Given the description of an element on the screen output the (x, y) to click on. 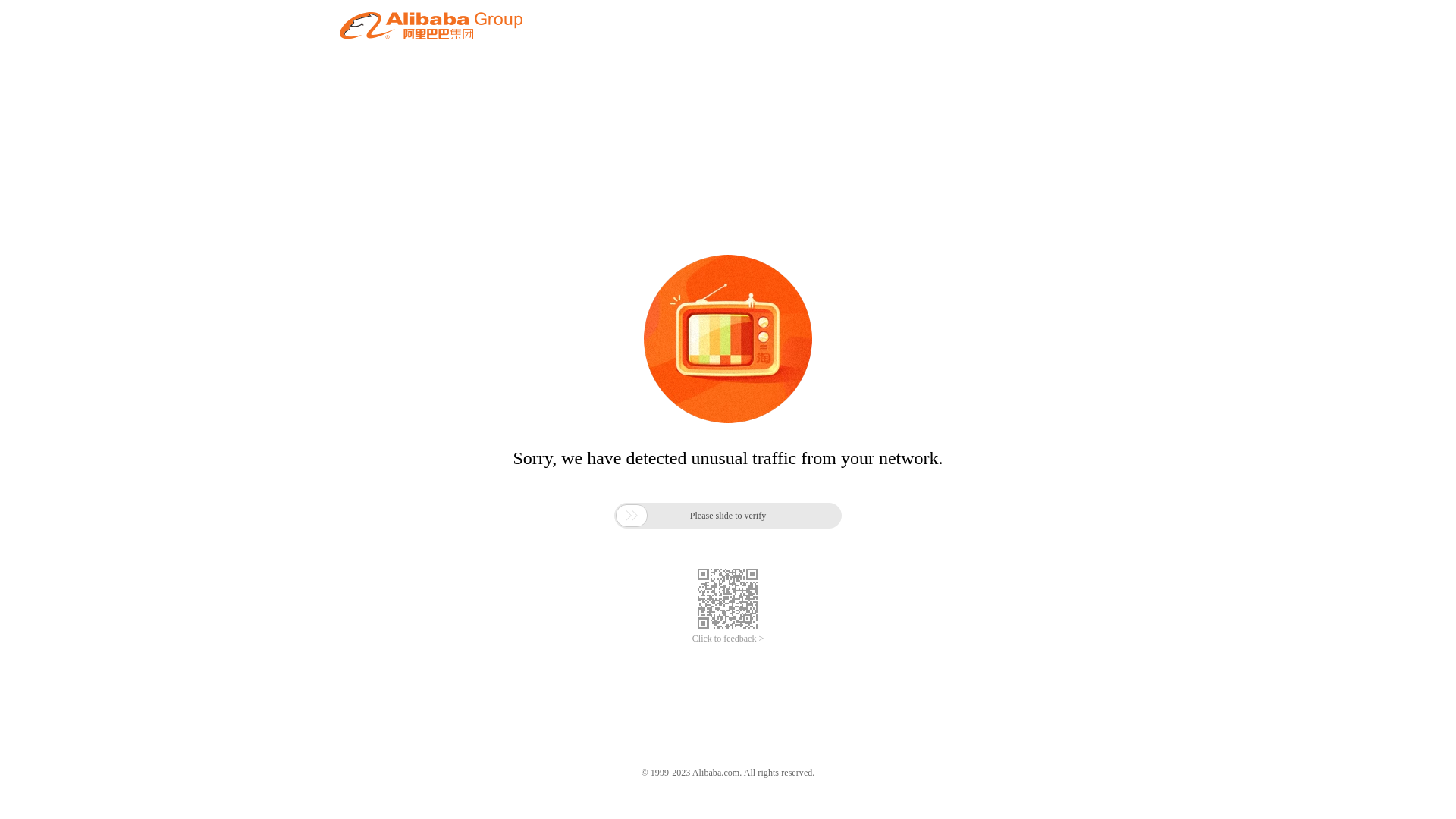
Click to feedback > Element type: text (727, 638)
